Given the description of an element on the screen output the (x, y) to click on. 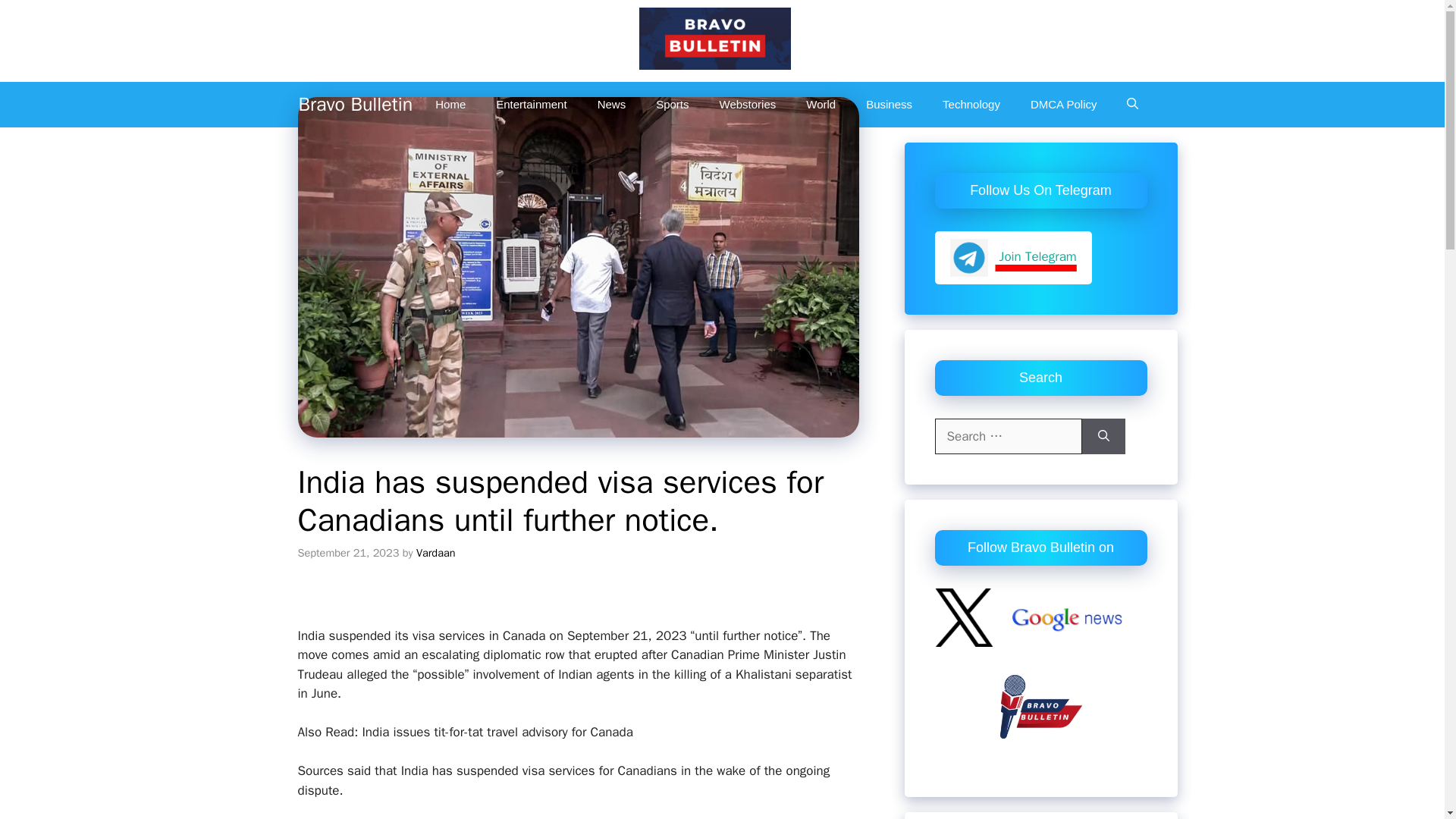
Business (888, 104)
Vardaan (435, 552)
View all posts by Vardaan (435, 552)
Search for: (1007, 436)
Bravo Bulletin (355, 104)
Webstories (748, 104)
News (612, 104)
DMCA Policy (1063, 104)
Home (450, 104)
Sports (671, 104)
Entertainment (530, 104)
Technology (970, 104)
World (820, 104)
Join Telegram (1012, 256)
